Given the description of an element on the screen output the (x, y) to click on. 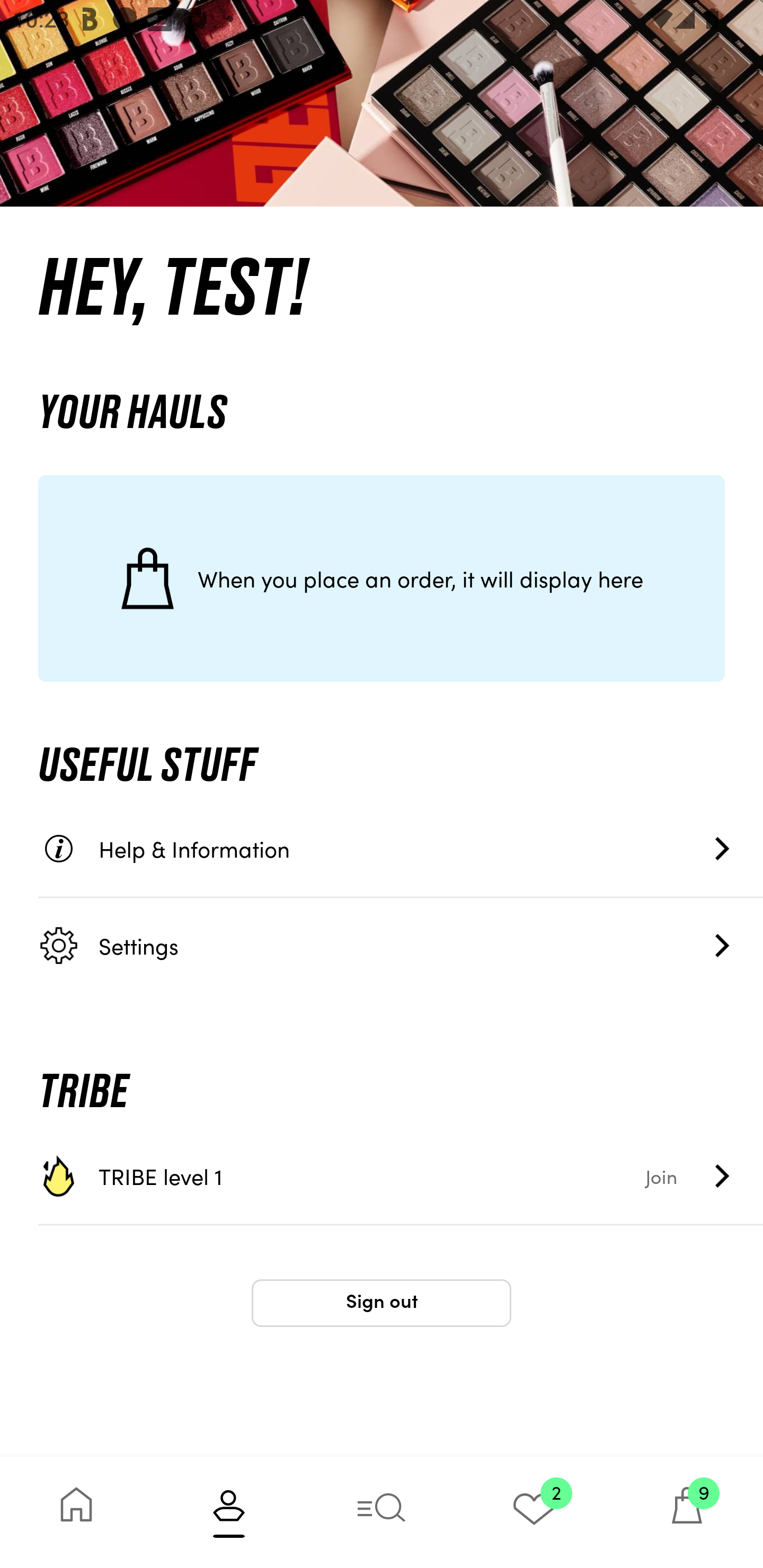
Help & Information (400, 848)
Settings (400, 945)
TRIBE level 1 Join (400, 1175)
Sign out (381, 1302)
2 (533, 1512)
9 (686, 1512)
